Given the description of an element on the screen output the (x, y) to click on. 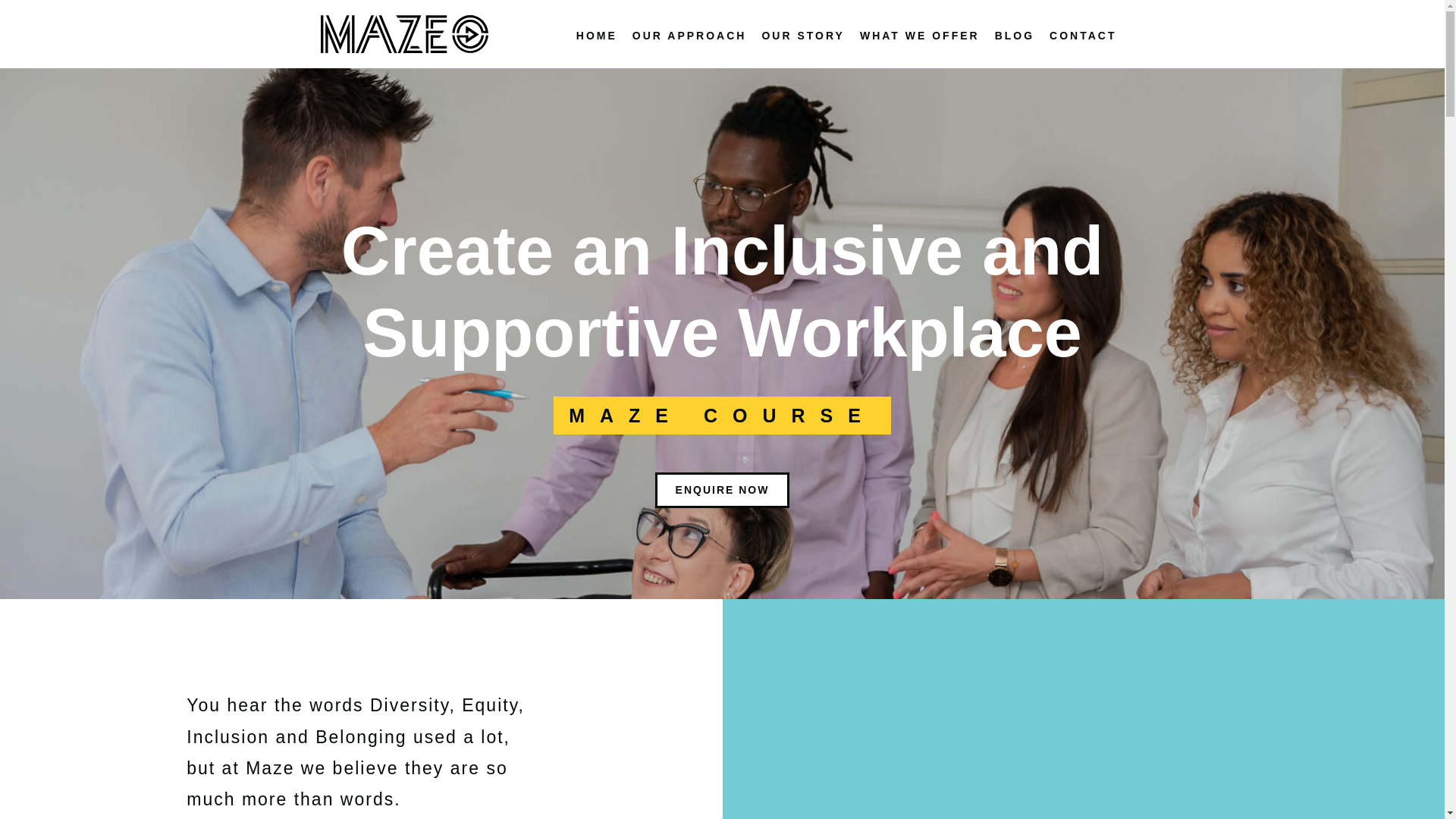
MAZE-full-logo-black (403, 34)
BLOG (1014, 35)
OUR APPROACH (689, 35)
CONTACT (1083, 35)
ENQUIRE NOW (722, 489)
HOME (596, 35)
WHAT WE OFFER (919, 35)
OUR STORY (802, 35)
